Given the description of an element on the screen output the (x, y) to click on. 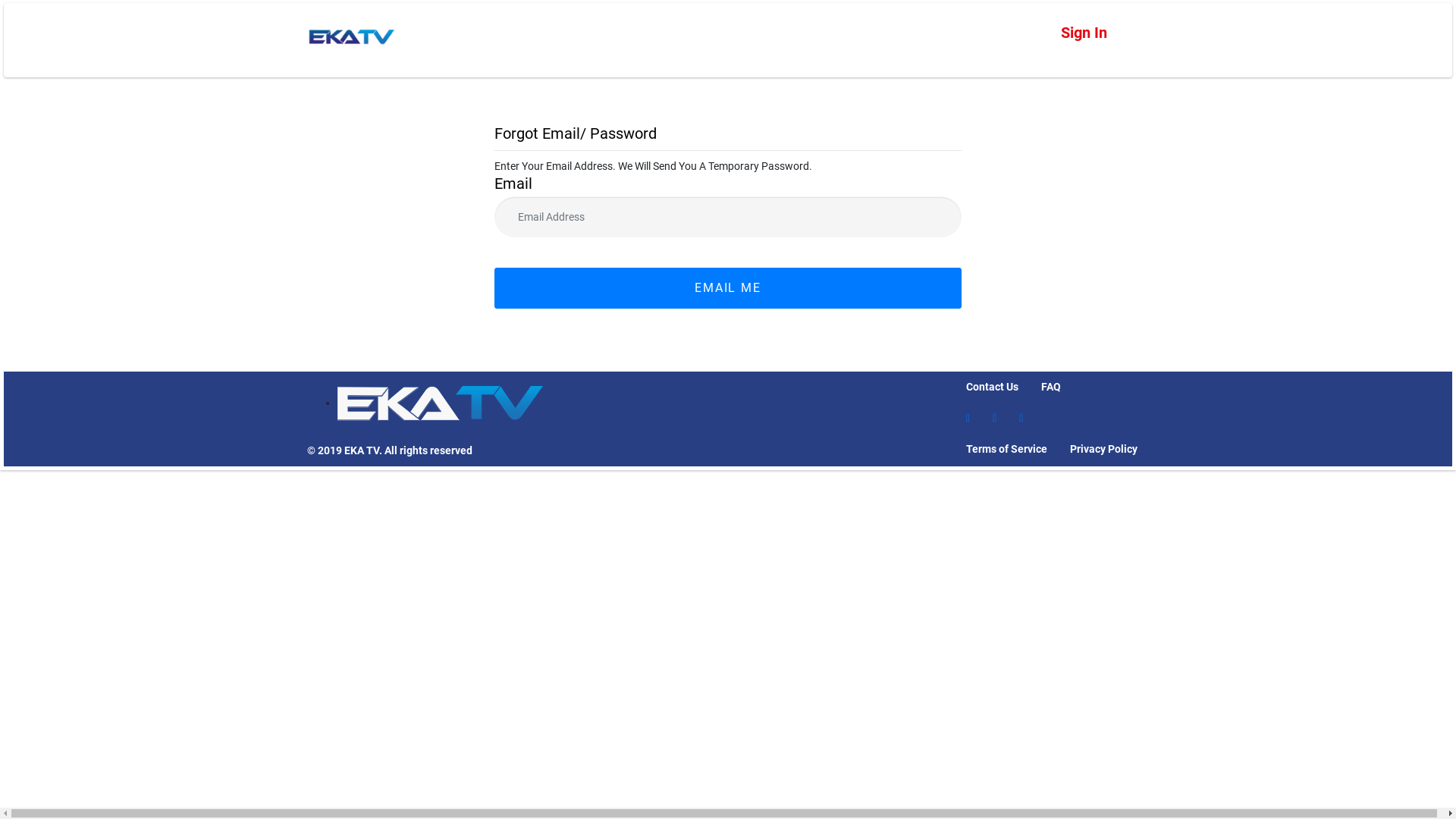
Contact Us Element type: text (991, 386)
EMAIL ME Element type: text (728, 287)
Sign In Element type: text (1083, 32)
Terms of Service Element type: text (1006, 448)
Privacy Policy Element type: text (1103, 448)
FAQ Element type: text (1050, 386)
